Given the description of an element on the screen output the (x, y) to click on. 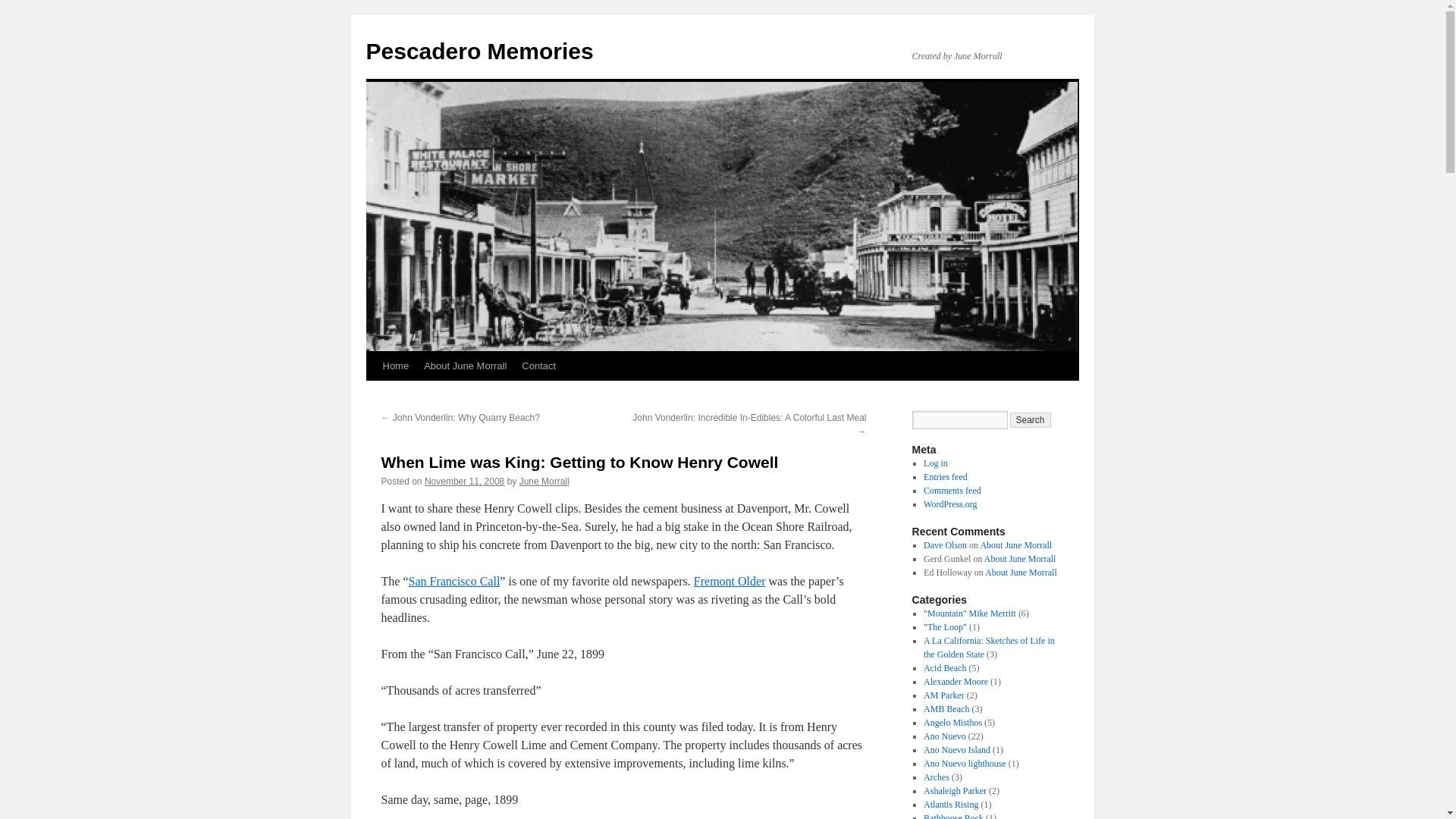
Atlantis Rising (950, 804)
AM Parker (943, 695)
Home (395, 366)
Pescadero Memories (478, 50)
A La California: Sketches of Life in the Golden State (988, 647)
Comments feed (952, 490)
About June Morrall (464, 366)
November 11, 2008 (464, 480)
View all posts by June Morrall (544, 480)
Contact (538, 366)
